Given the description of an element on the screen output the (x, y) to click on. 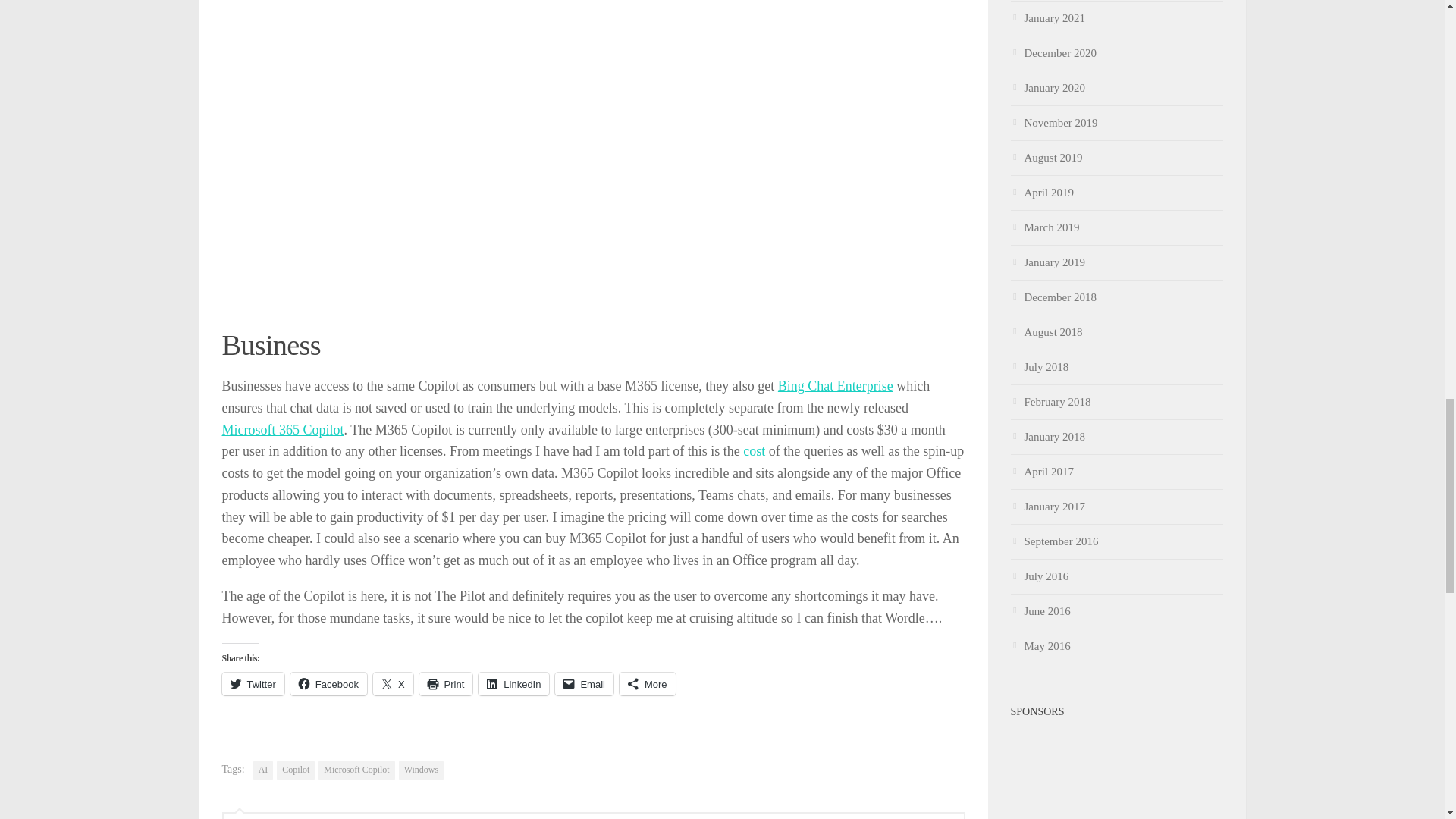
Click to print (446, 683)
Click to email a link to a friend (583, 683)
Windows (421, 770)
More (647, 683)
Microsoft Copilot (356, 770)
cost (753, 450)
Print (446, 683)
Email (583, 683)
Copilot (295, 770)
AI (263, 770)
